Given the description of an element on the screen output the (x, y) to click on. 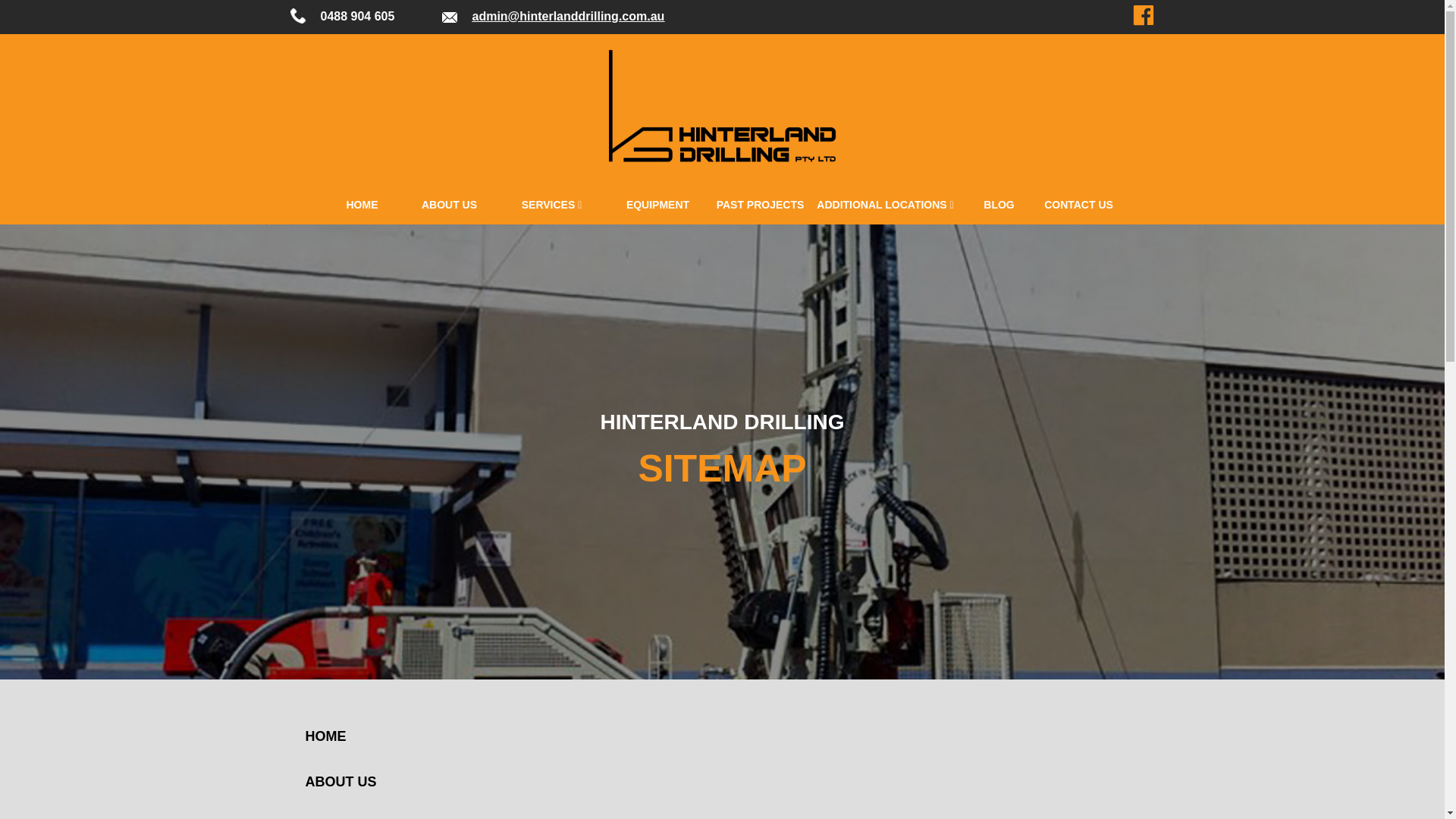
CONTACT US Element type: text (1078, 204)
admin@hinterlanddrilling.com.au Element type: text (567, 15)
ABOUT US Element type: text (449, 204)
ABOUT US Element type: text (342, 781)
BLOG Element type: text (999, 204)
PAST PROJECTS Element type: text (760, 204)
HOME Element type: text (362, 204)
EQUIPMENT Element type: text (658, 204)
HOME Element type: text (342, 736)
0488 904 605 Element type: text (357, 15)
